Given the description of an element on the screen output the (x, y) to click on. 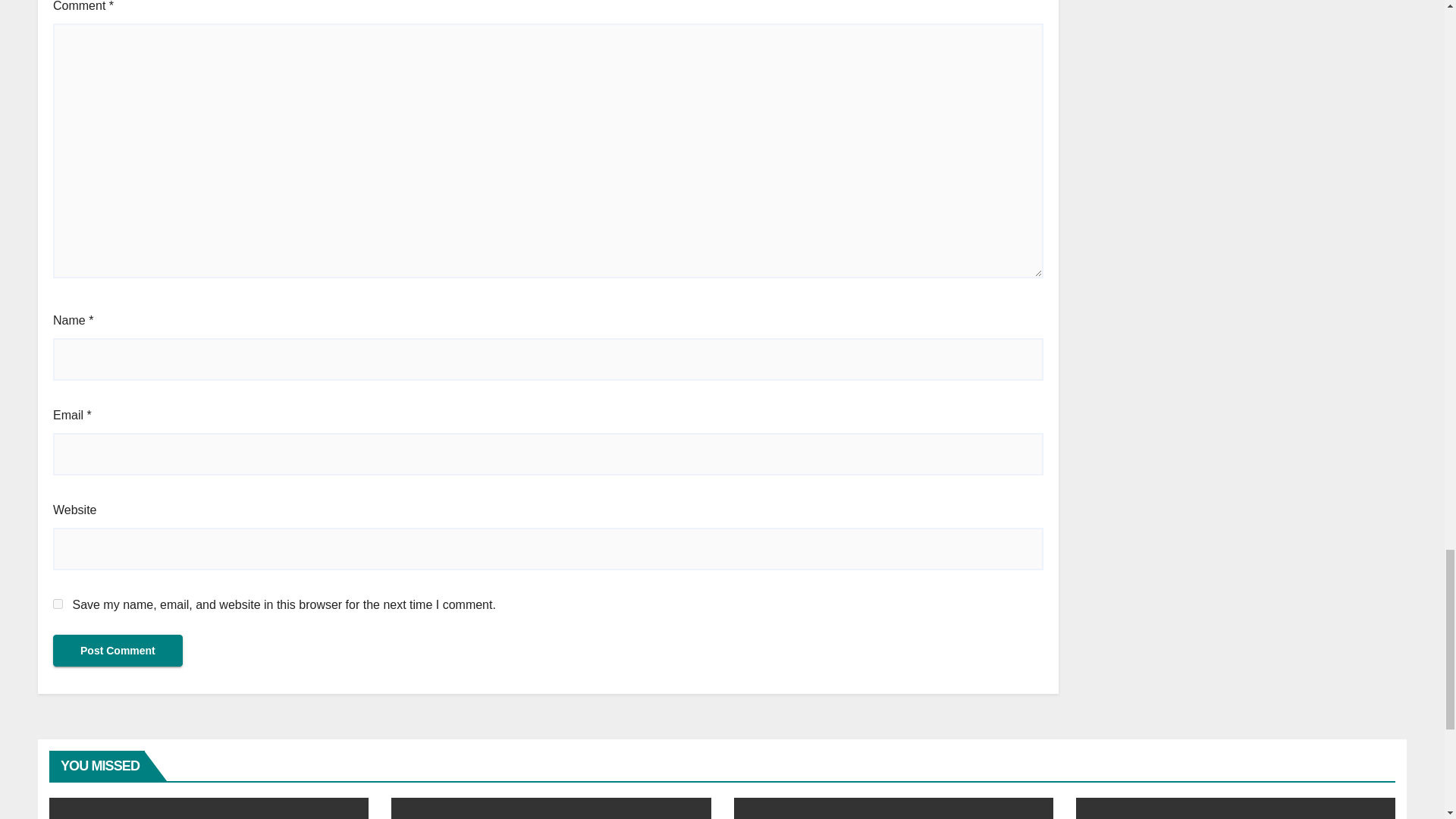
yes (57, 603)
Post Comment (117, 650)
